Given the description of an element on the screen output the (x, y) to click on. 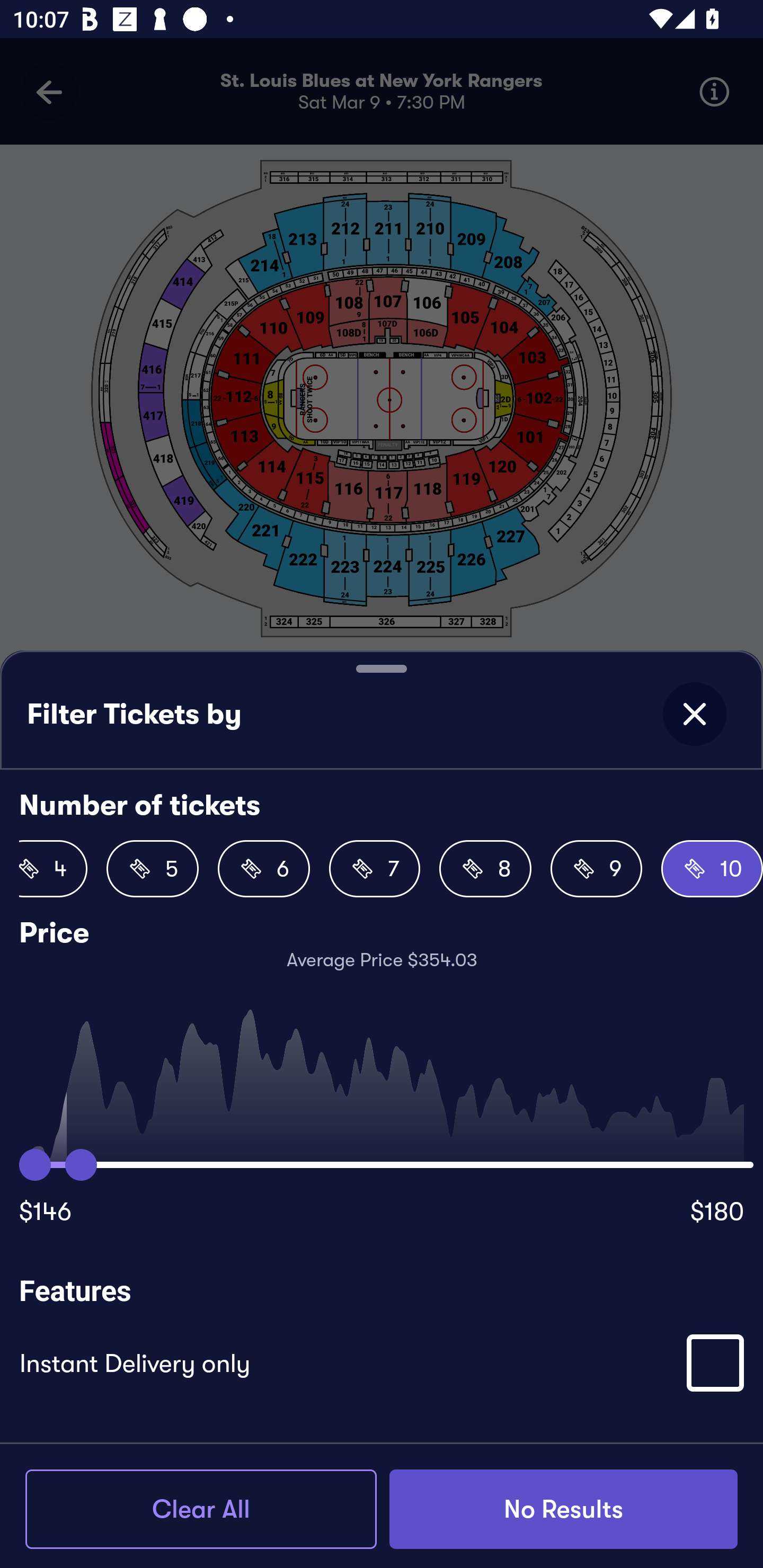
close (694, 714)
4 (53, 868)
5 (152, 868)
6 (263, 868)
7 (374, 868)
8 (485, 868)
9 (596, 868)
10 (712, 868)
Clear All (200, 1509)
No Results (563, 1509)
